Given the description of an element on the screen output the (x, y) to click on. 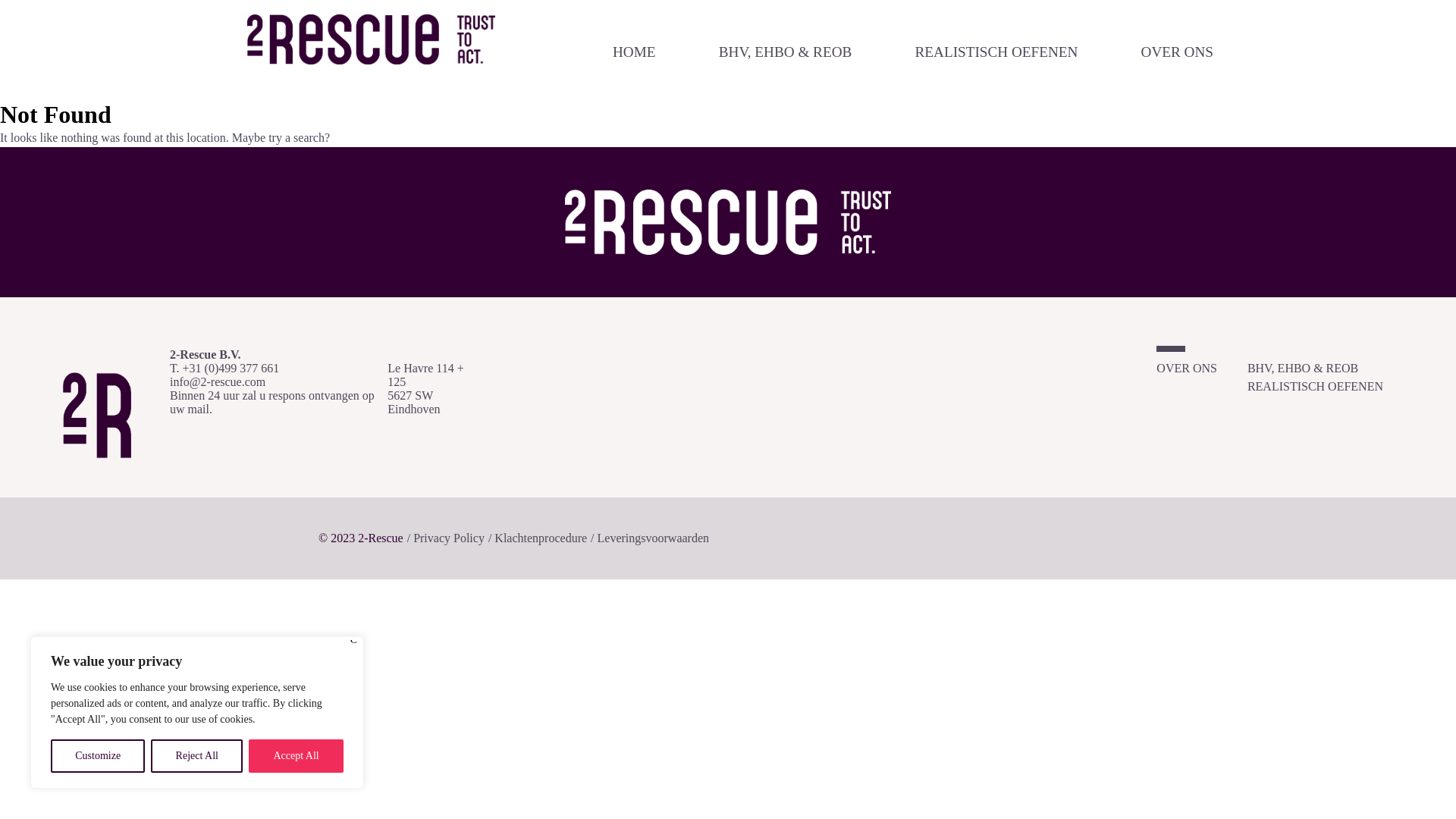
REALISTISCH OEFENEN Element type: text (1315, 385)
BHV, EHBO & REOB Element type: text (1302, 367)
Klachtenprocedure Element type: text (540, 537)
OVER ONS Element type: text (1186, 367)
OVER ONS Element type: text (1177, 51)
Reject All Element type: text (196, 755)
REALISTISCH OEFENEN Element type: text (996, 51)
BHV, EHBO & REOB Element type: text (785, 51)
Customize Element type: text (97, 755)
Accept All Element type: text (295, 755)
HOME Element type: text (633, 51)
Privacy Policy Element type: text (448, 537)
Leveringsvoorwaarden Element type: text (653, 537)
